Given the description of an element on the screen output the (x, y) to click on. 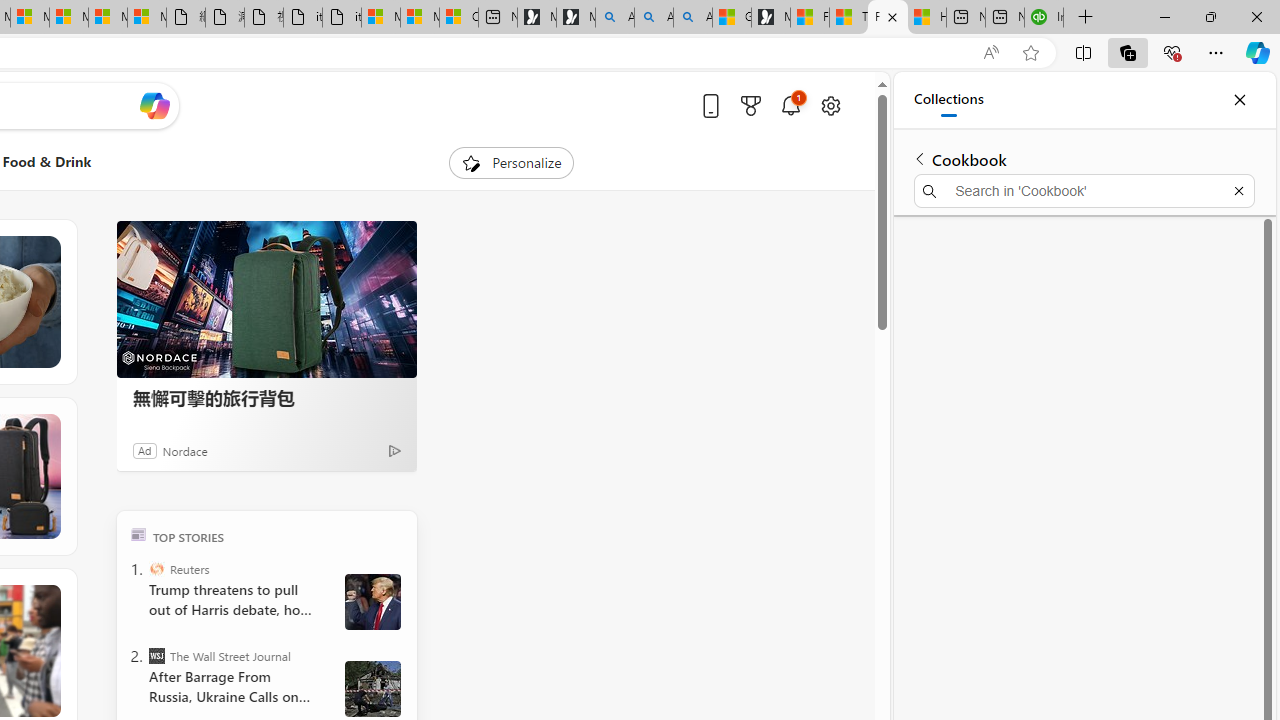
New Tab (1085, 17)
New tab (1004, 17)
Ad Choice (394, 449)
Read aloud this page (Ctrl+Shift+U) (991, 53)
Exit search (1238, 190)
Nordace (184, 450)
Back to list of collections (920, 158)
Microsoft rewards (749, 105)
Alabama high school quarterback dies - Search Videos (692, 17)
Add this page to favorites (Ctrl+D) (1030, 53)
See more (46, 598)
